Given the description of an element on the screen output the (x, y) to click on. 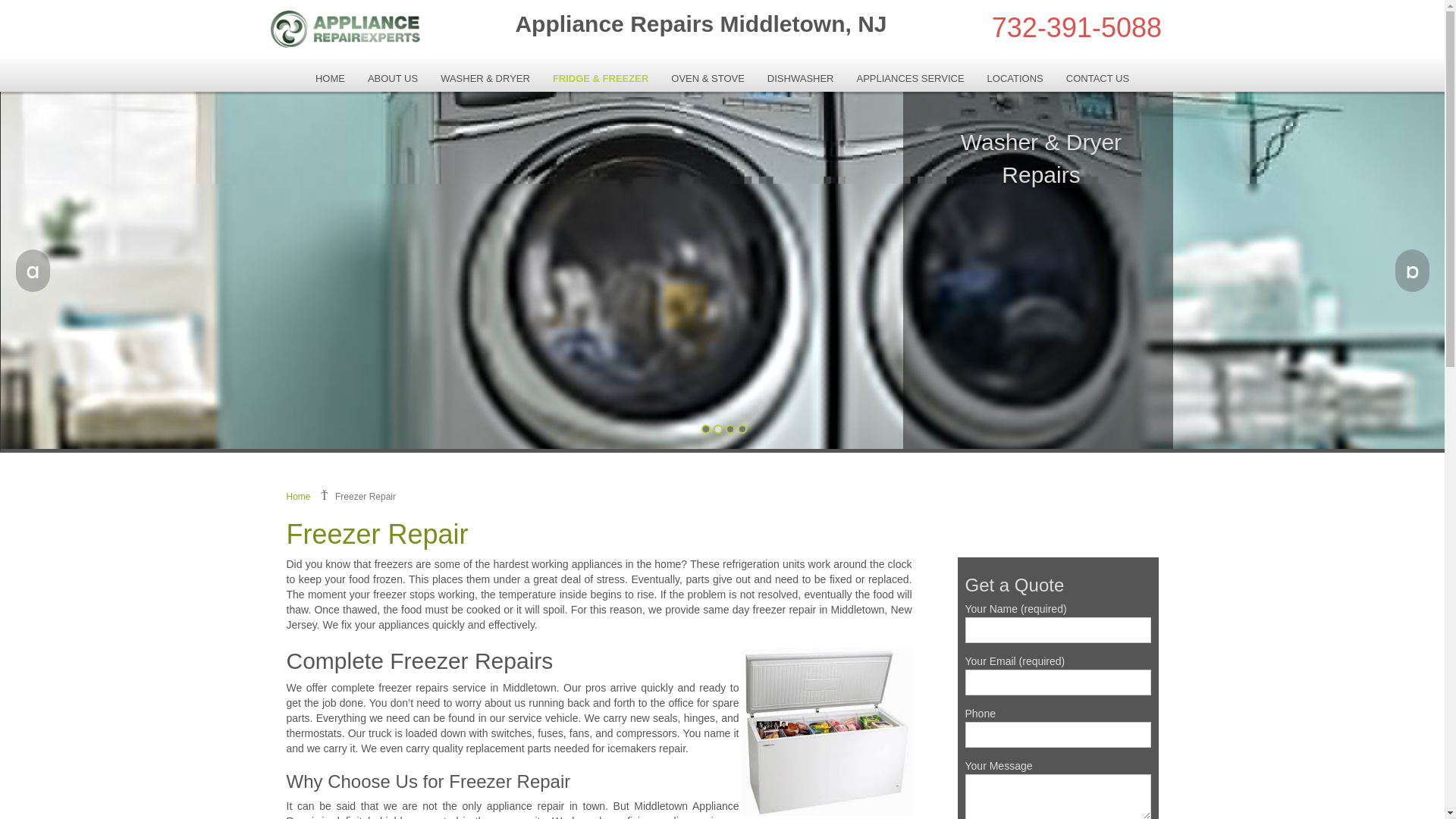
HOME (330, 78)
LOCATIONS (1014, 78)
DISHWASHER (800, 78)
732-391-5088 (1076, 27)
APPLIANCES SERVICE (909, 78)
ABOUT US (392, 78)
